Given the description of an element on the screen output the (x, y) to click on. 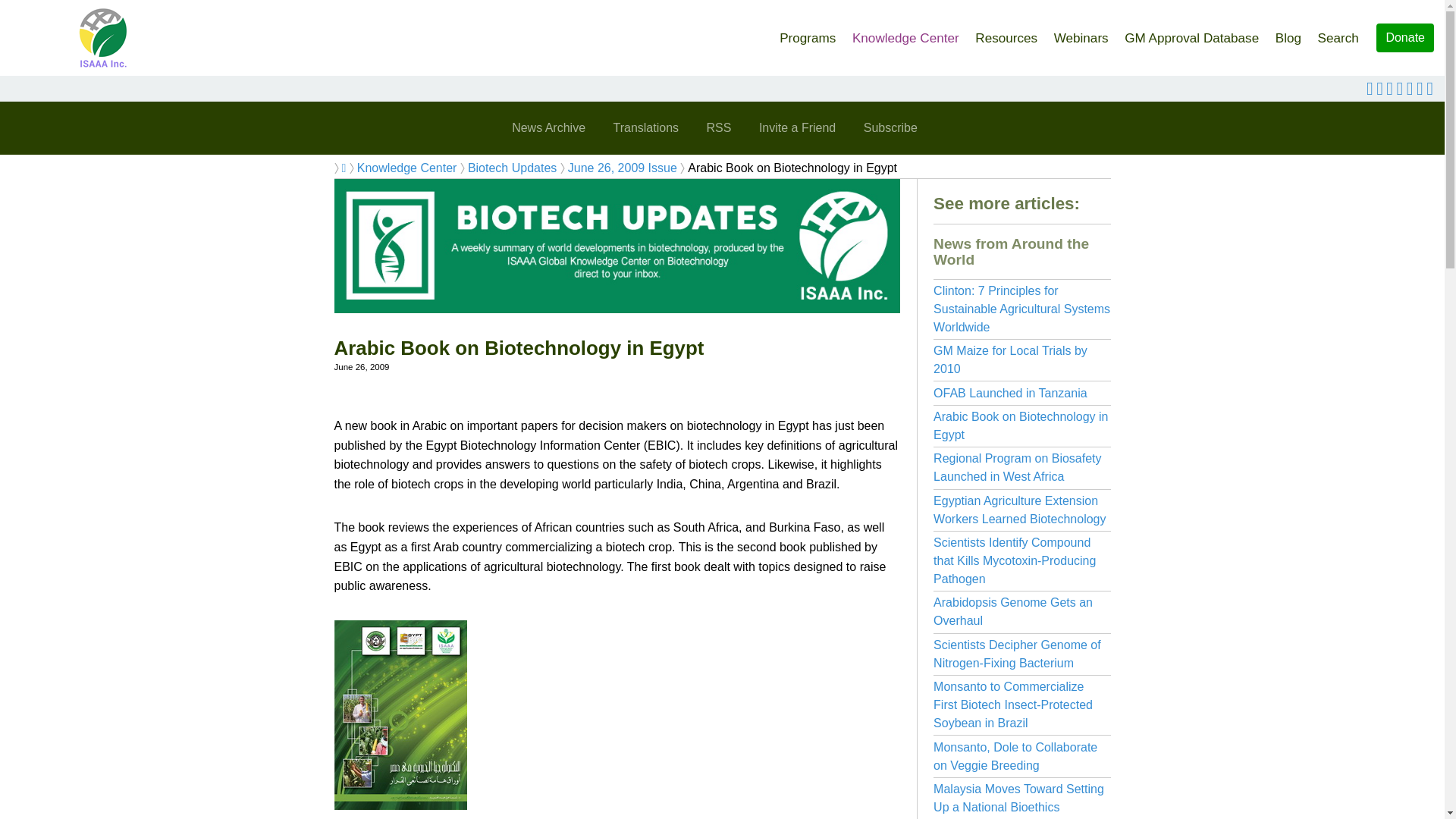
Monsanto, Dole to Collaborate on Veggie Breeding (1015, 756)
GM Approval Database (1191, 32)
Resources (1005, 32)
Egyptian Agriculture Extension Workers Learned Biotechnology (1019, 509)
Regional Program on Biosafety Launched in West Africa (1016, 467)
RSS (719, 127)
Invite a Friend (796, 127)
Knowledge Center (406, 167)
